Given the description of an element on the screen output the (x, y) to click on. 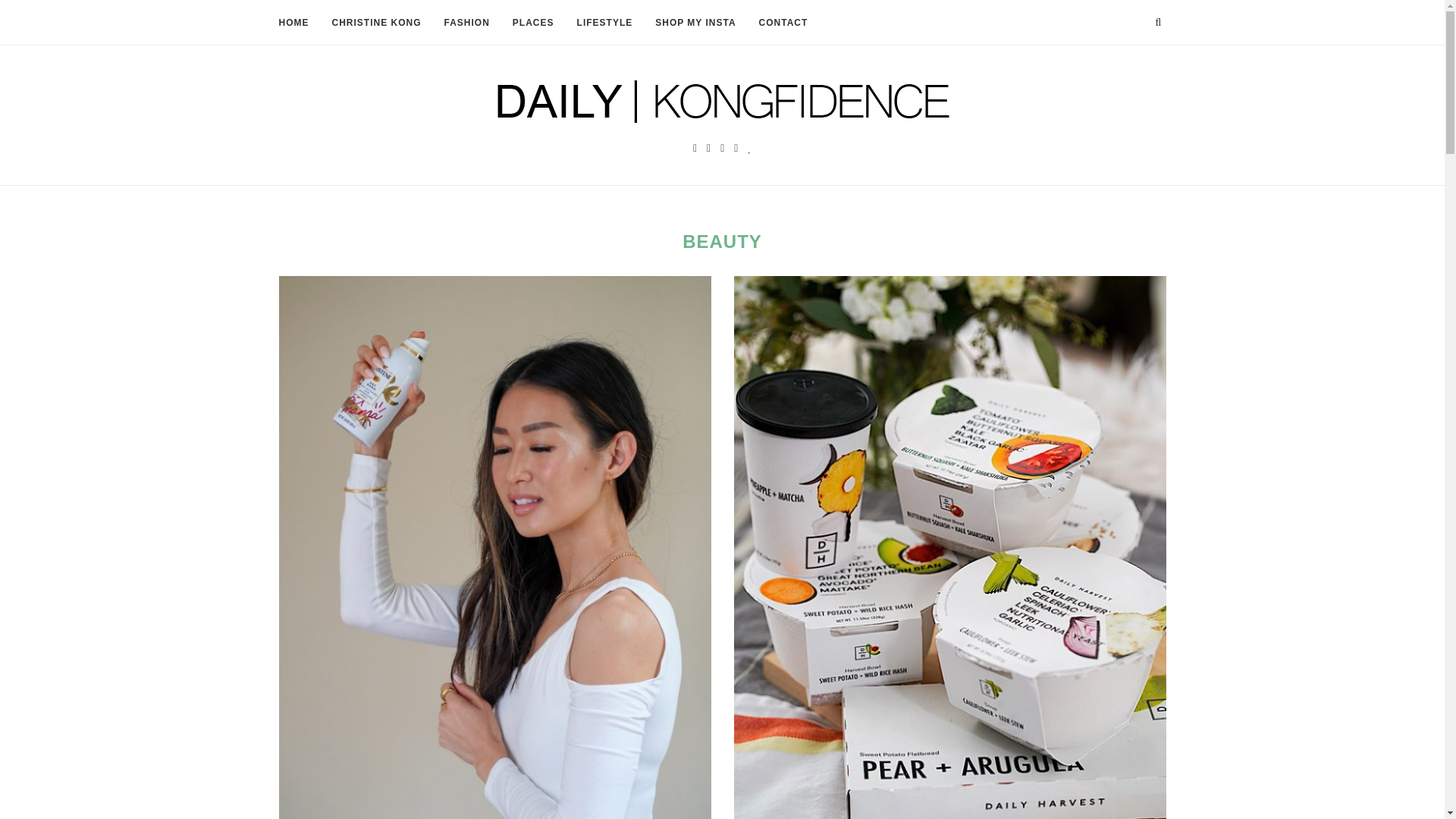
PLACES (533, 22)
SHOP MY INSTA (695, 22)
LIFESTYLE (604, 22)
FASHION (466, 22)
CONTACT (783, 22)
CHRISTINE KONG (376, 22)
